Given the description of an element on the screen output the (x, y) to click on. 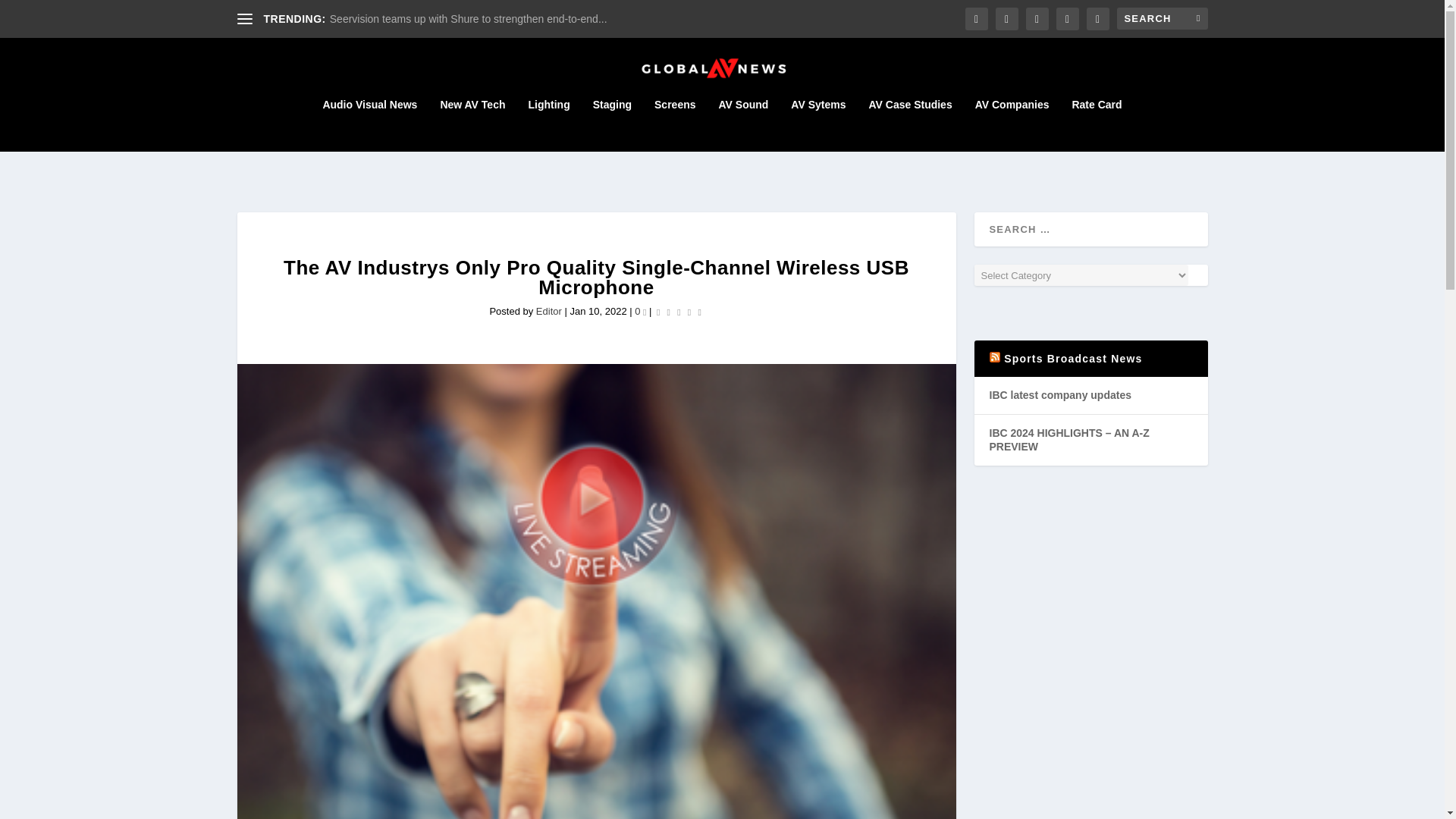
AV Sound (743, 124)
Audio Visual News (368, 124)
Seervision teams up with Shure to strengthen end-to-end... (468, 19)
AV Case Studies (909, 124)
Rating: 0.00 (678, 311)
Search for: (1161, 18)
Rate Card (1096, 124)
New AV Tech (472, 124)
AV Sytems (817, 124)
AV Companies (1012, 124)
